Given the description of an element on the screen output the (x, y) to click on. 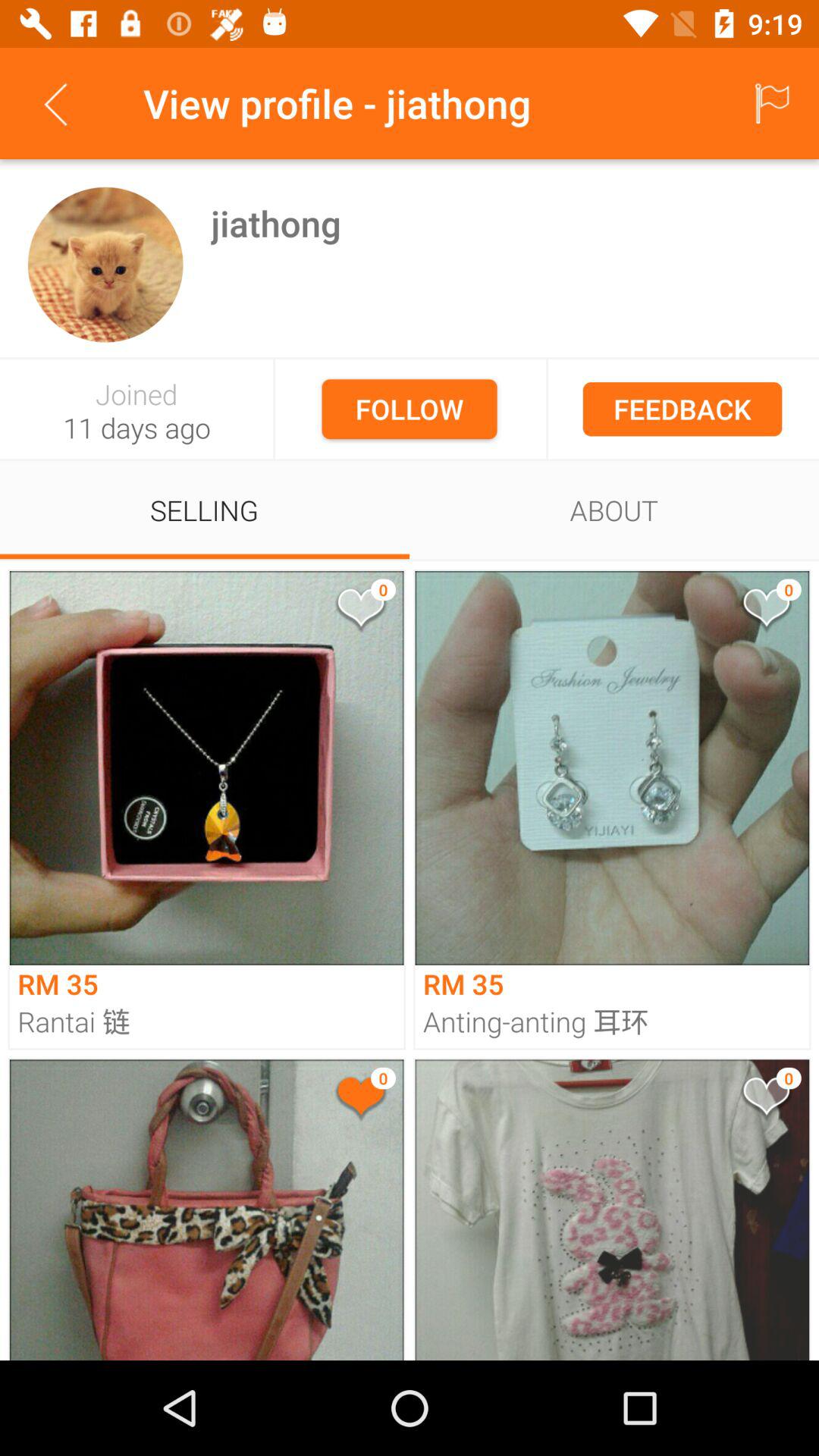
love it (765, 610)
